Given the description of an element on the screen output the (x, y) to click on. 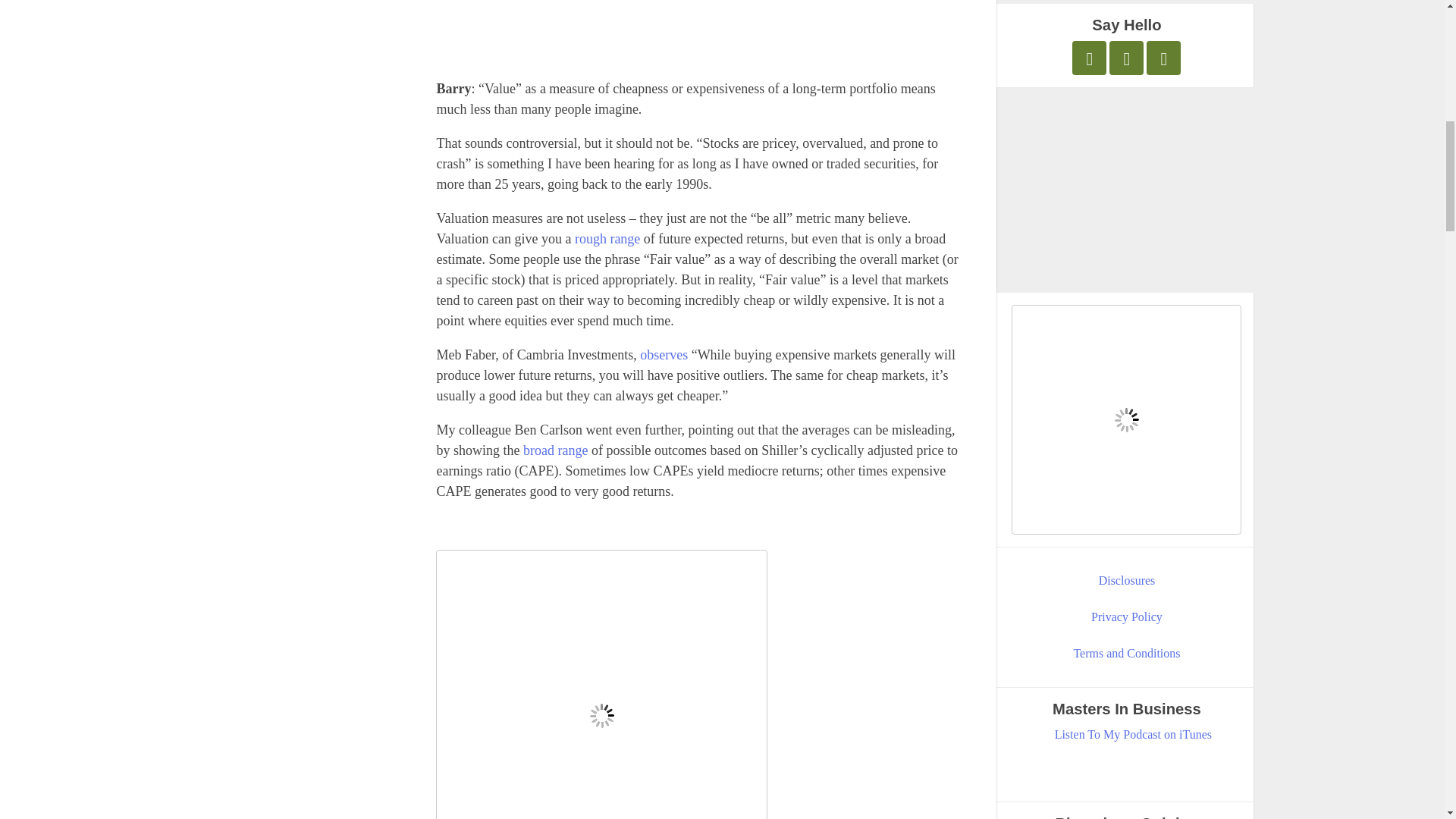
Twitter (1088, 57)
Listen To My Podcast on iTunes (1132, 734)
broad range (555, 450)
LinkedIn (1163, 57)
Disclosures (1126, 580)
Privacy Policy (1126, 617)
observes (663, 354)
Facebook (1125, 57)
rough range (607, 238)
Terms and Conditions (1126, 653)
